Given the description of an element on the screen output the (x, y) to click on. 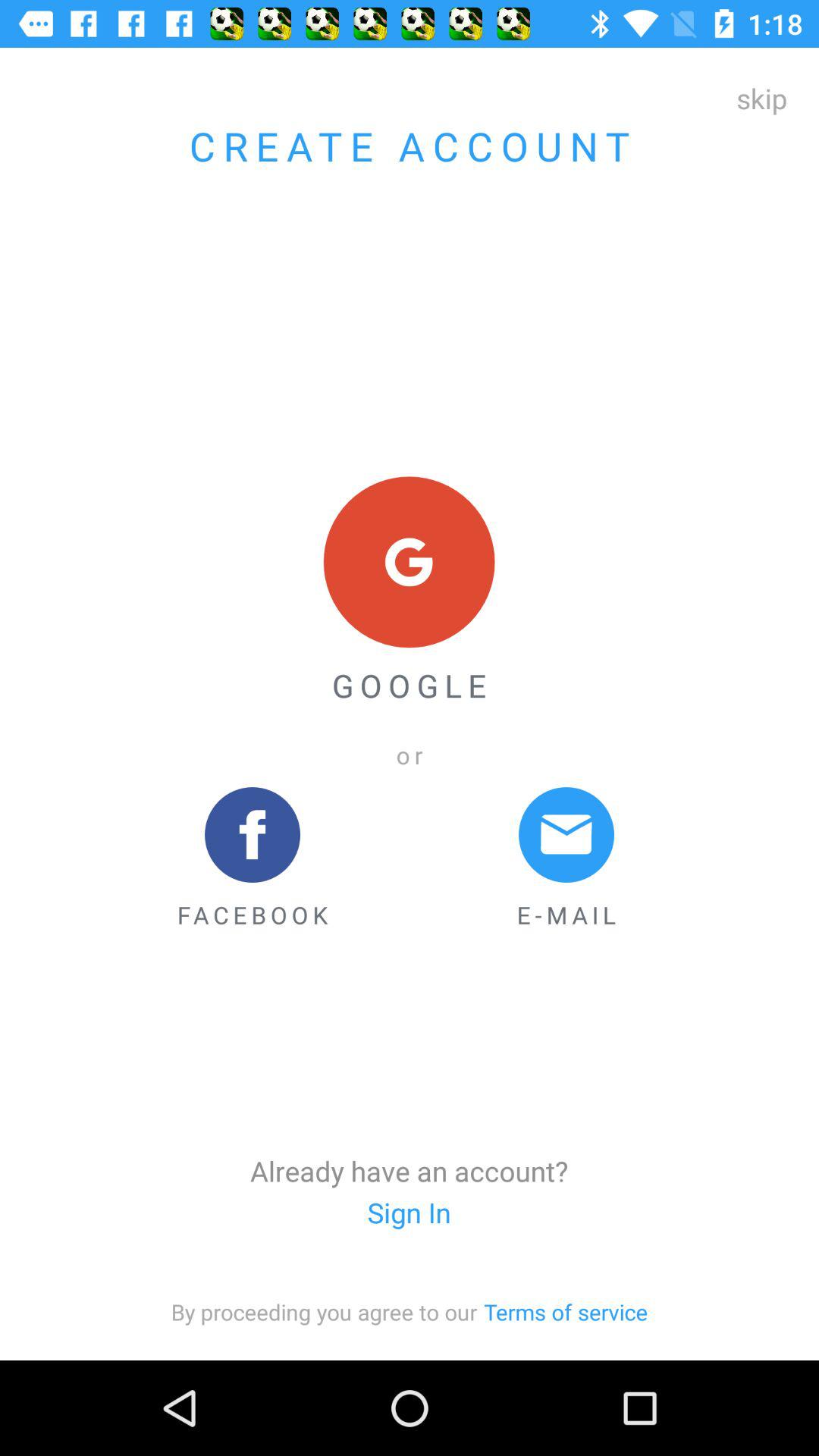
swipe until skip (761, 98)
